Given the description of an element on the screen output the (x, y) to click on. 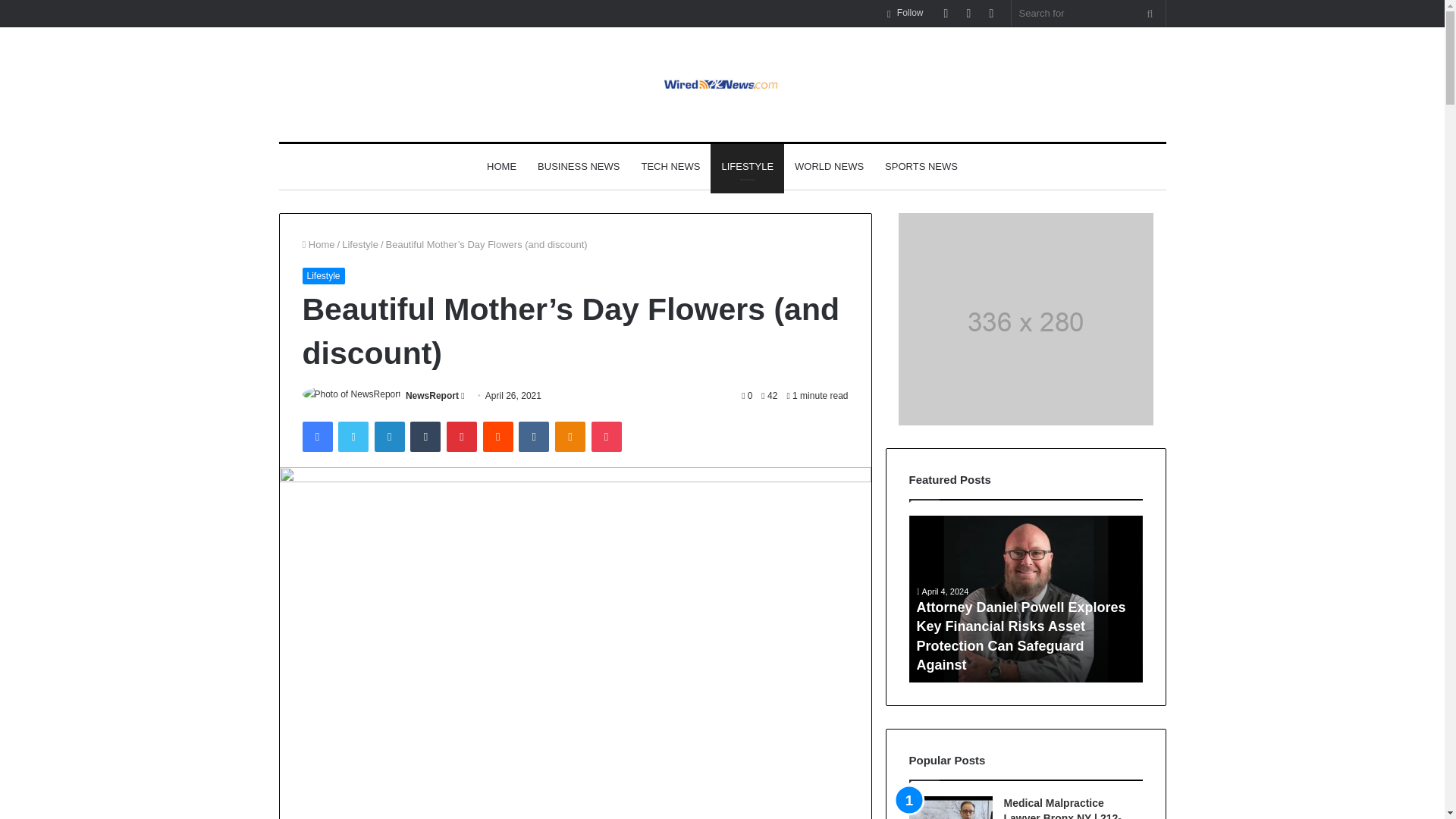
HOME (501, 166)
Reddit (498, 436)
VKontakte (533, 436)
BUSINESS NEWS (578, 166)
LinkedIn (389, 436)
Follow (905, 13)
Facebook (316, 436)
Pinterest (461, 436)
WORLD NEWS (829, 166)
Twitter (352, 436)
Search for (1088, 13)
Wired PR News (721, 84)
VKontakte (533, 436)
Lifestyle (360, 244)
Twitter (352, 436)
